Given the description of an element on the screen output the (x, y) to click on. 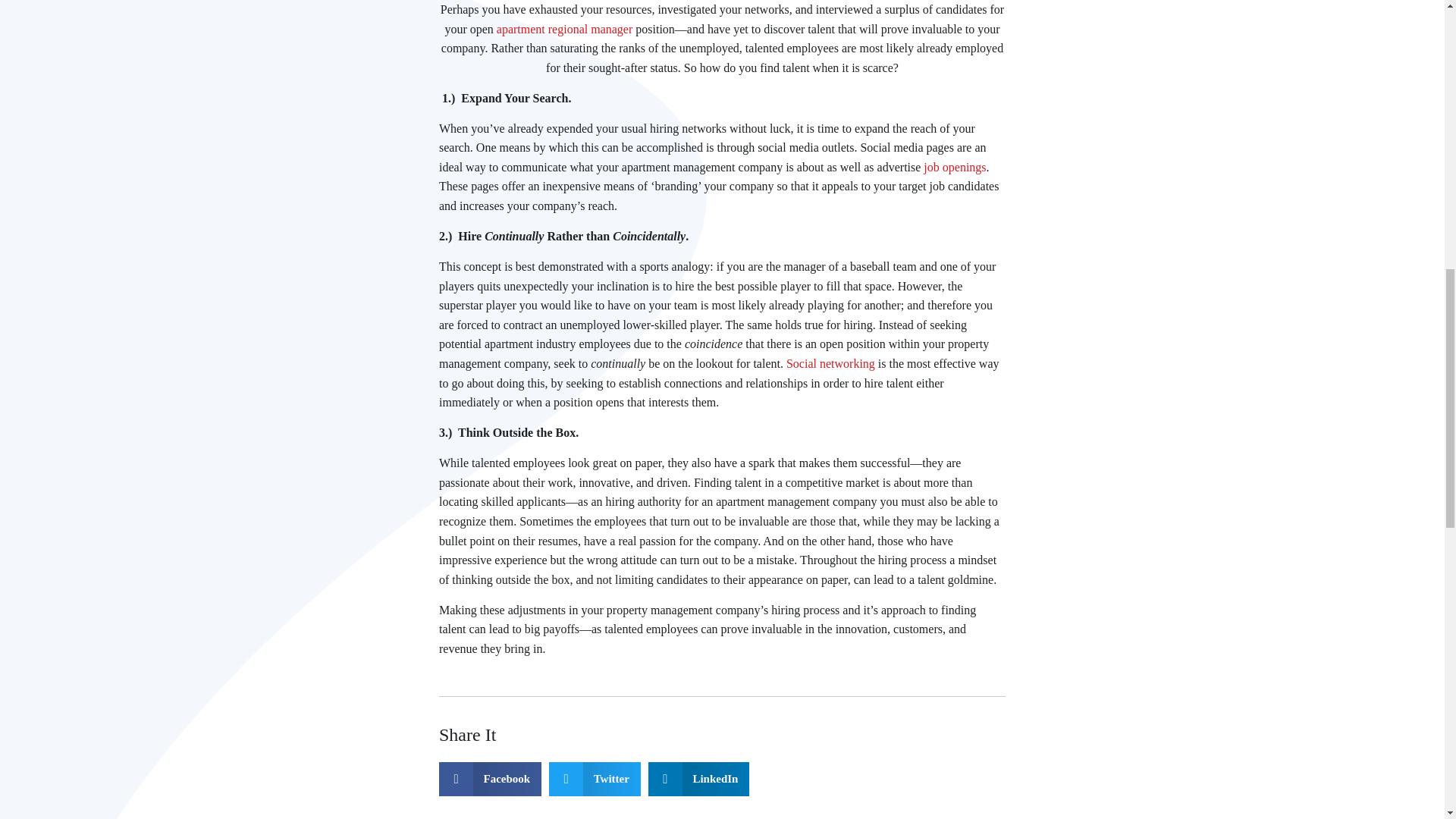
apartment regional manager (563, 29)
Social networking (829, 363)
job openings (954, 166)
